Given the description of an element on the screen output the (x, y) to click on. 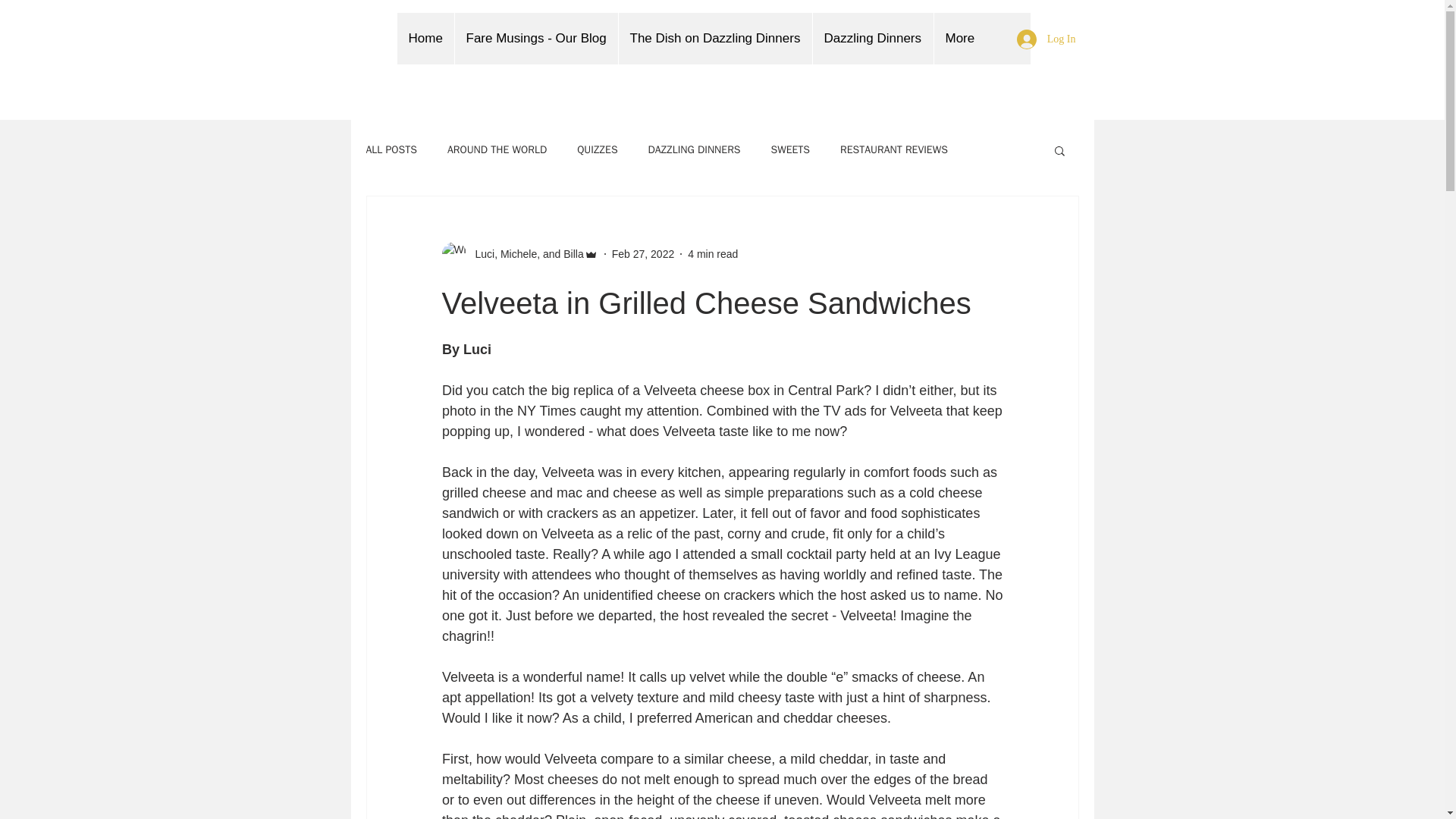
Feb 27, 2022 (643, 253)
Luci, Michele, and Billa (524, 253)
Dazzling Dinners (871, 38)
RESTAURANT REVIEWS (893, 150)
QUIZZES (596, 150)
DAZZLING DINNERS (694, 150)
4 min read (712, 253)
ALL POSTS (390, 150)
Luci, Michele, and Billa (518, 253)
AROUND THE WORLD (496, 150)
